Given the description of an element on the screen output the (x, y) to click on. 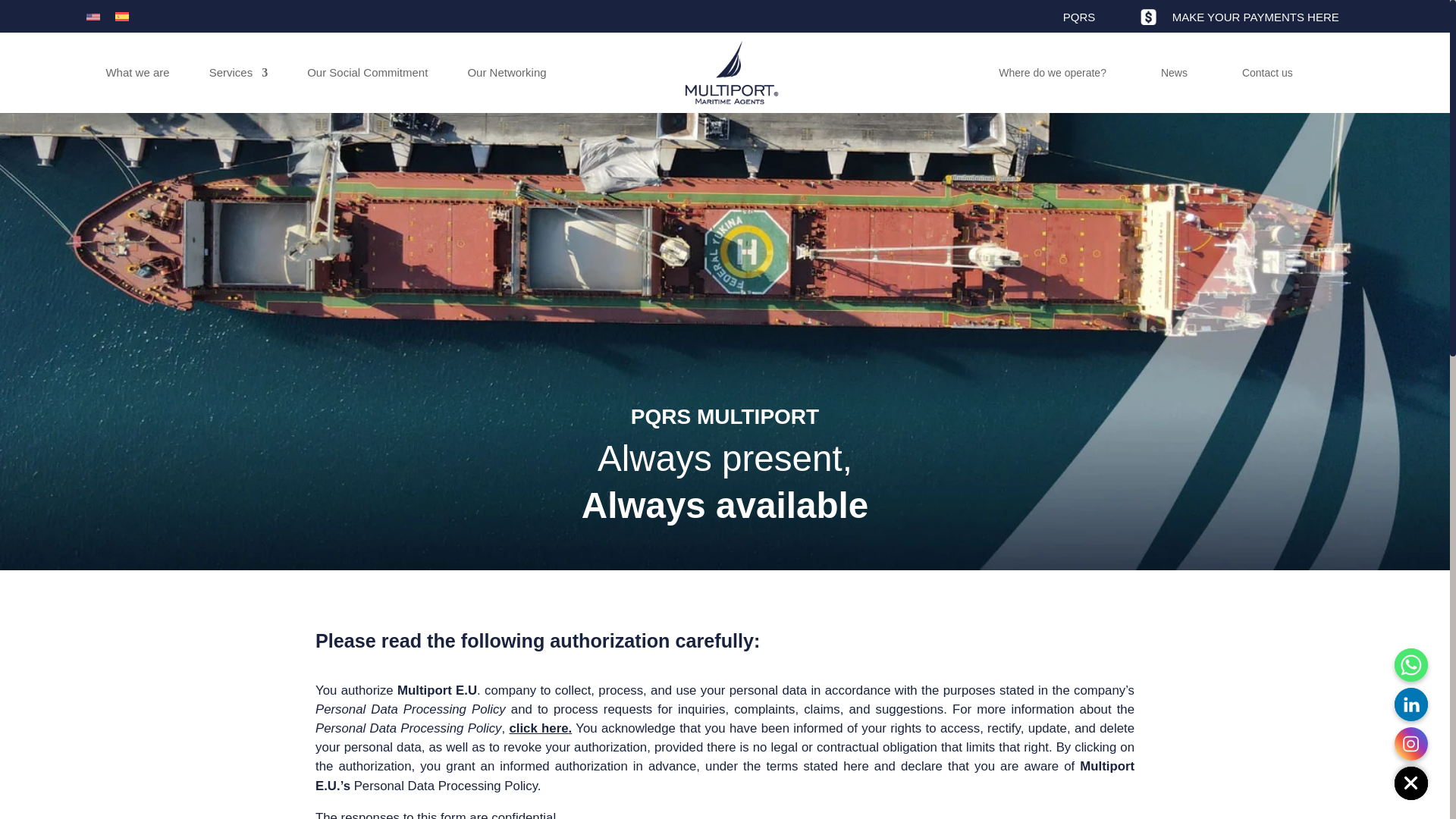
What we are (136, 75)
Our Networking (506, 75)
Our Social Commitment (367, 75)
Multiport (731, 72)
Services (238, 75)
PQRS (1079, 16)
